Given the description of an element on the screen output the (x, y) to click on. 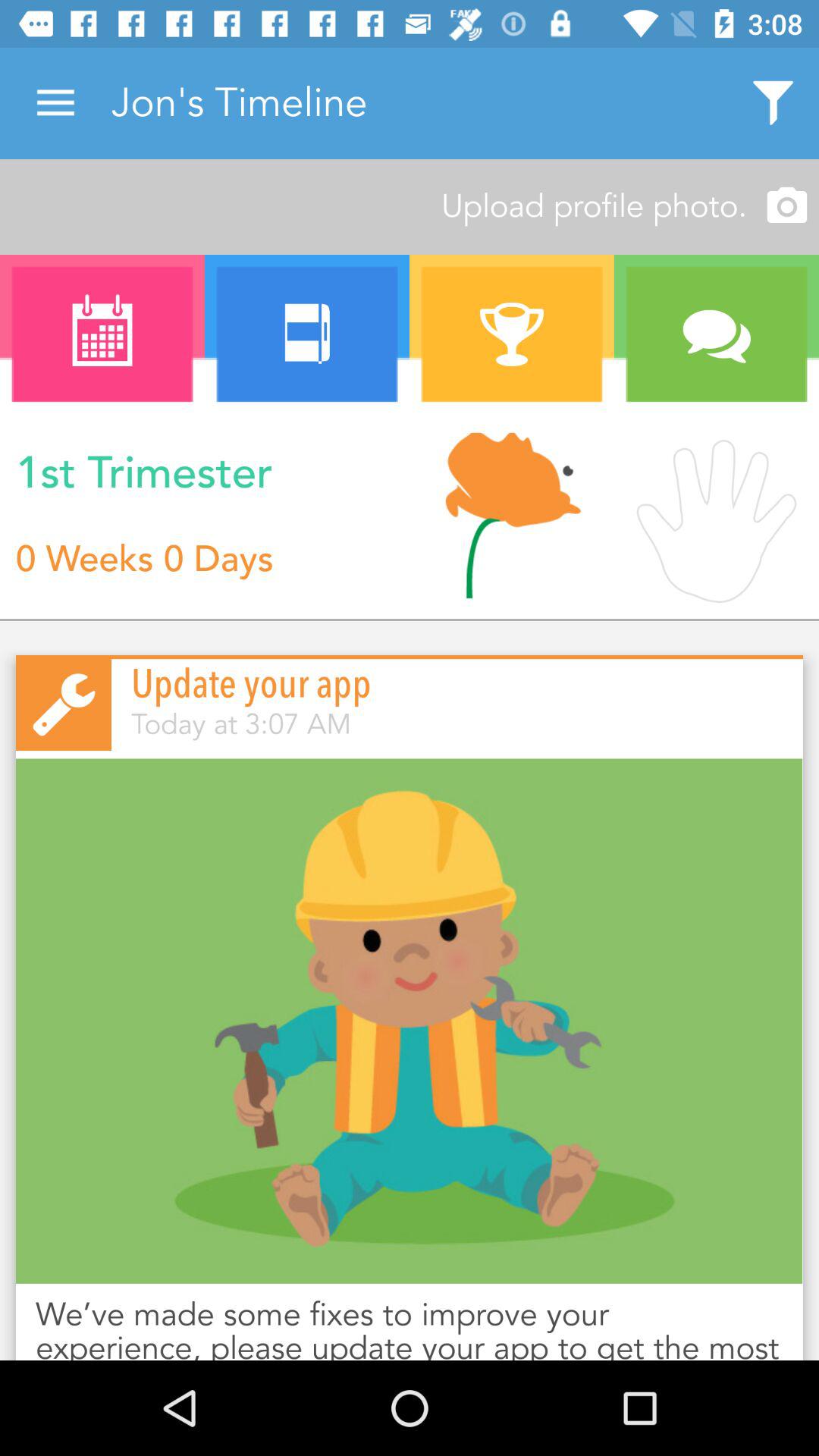
tap the item to the right of a (306, 334)
